Given the description of an element on the screen output the (x, y) to click on. 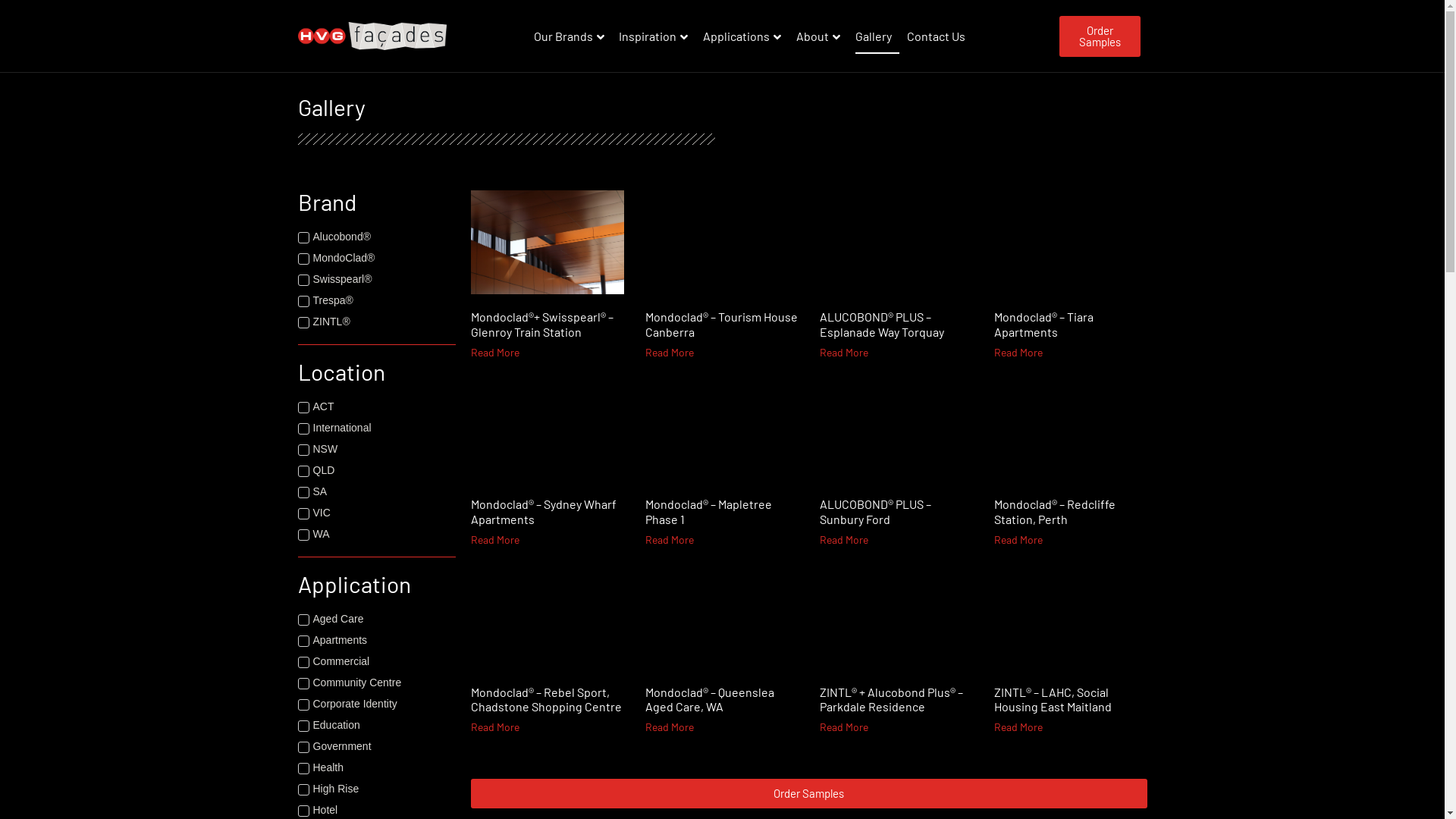
Read More Element type: text (1017, 351)
Read More Element type: text (1017, 539)
Our Brands Element type: text (572, 36)
Read More Element type: text (843, 539)
Order Samples Element type: text (1099, 35)
About Element type: text (821, 36)
Read More Element type: text (1017, 726)
Read More Element type: text (668, 351)
Read More Element type: text (668, 539)
Read More Element type: text (668, 726)
Applications Element type: text (745, 36)
Inspiration Element type: text (656, 36)
Read More Element type: text (494, 726)
Read More Element type: text (843, 726)
Order Samples Element type: text (808, 793)
Read More Element type: text (843, 351)
Contact Us Element type: text (939, 36)
Gallery Element type: text (877, 36)
Read More Element type: text (494, 351)
Read More Element type: text (494, 539)
